Given the description of an element on the screen output the (x, y) to click on. 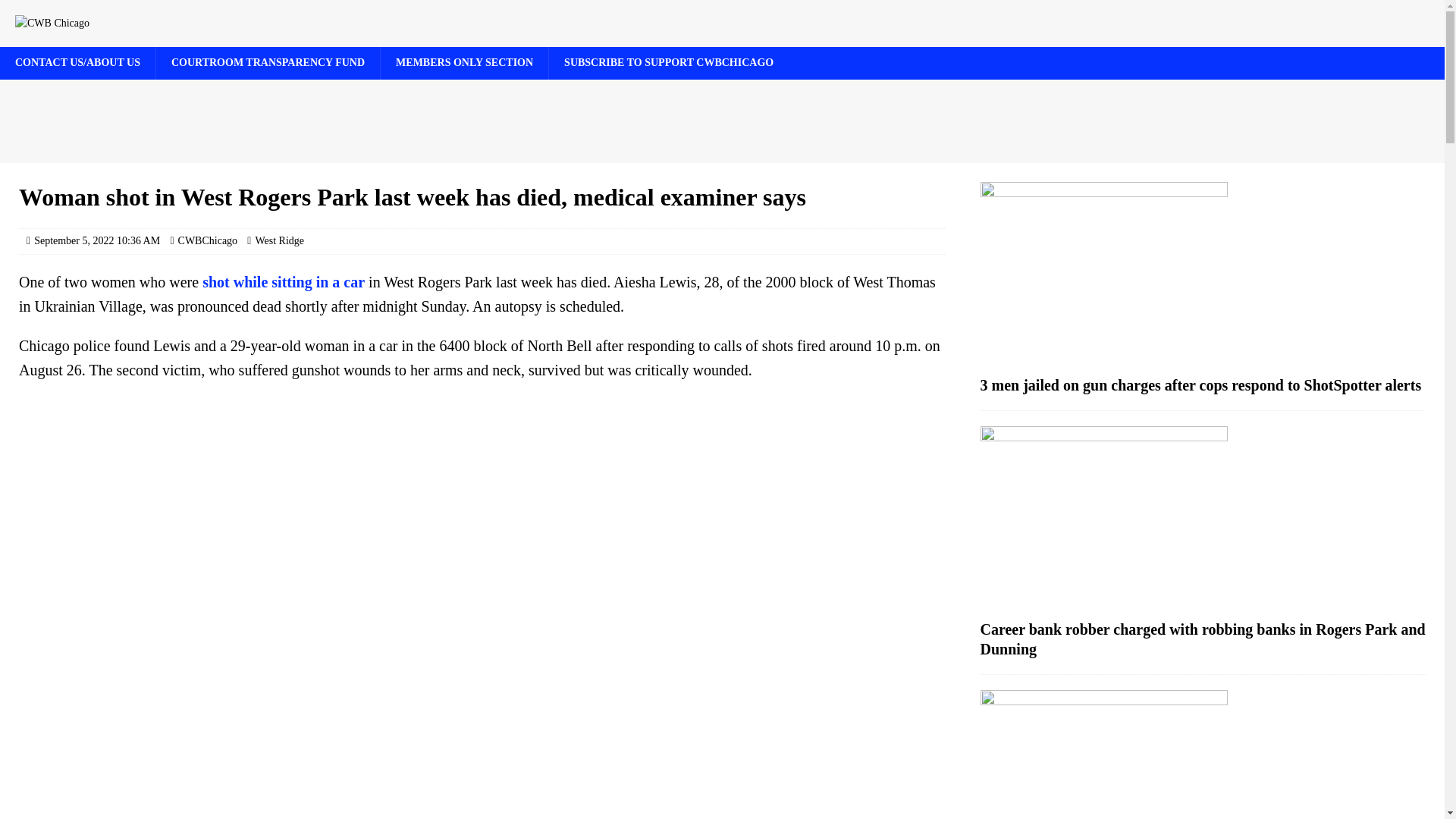
SUBSCRIBE TO SUPPORT CWBCHICAGO (668, 62)
CWBChicago (207, 240)
shot while sitting in a car (283, 281)
MEMBERS ONLY SECTION (464, 62)
September 5, 2022 10:36 AM (96, 240)
COURTROOM TRANSPARENCY FUND (267, 62)
